Given the description of an element on the screen output the (x, y) to click on. 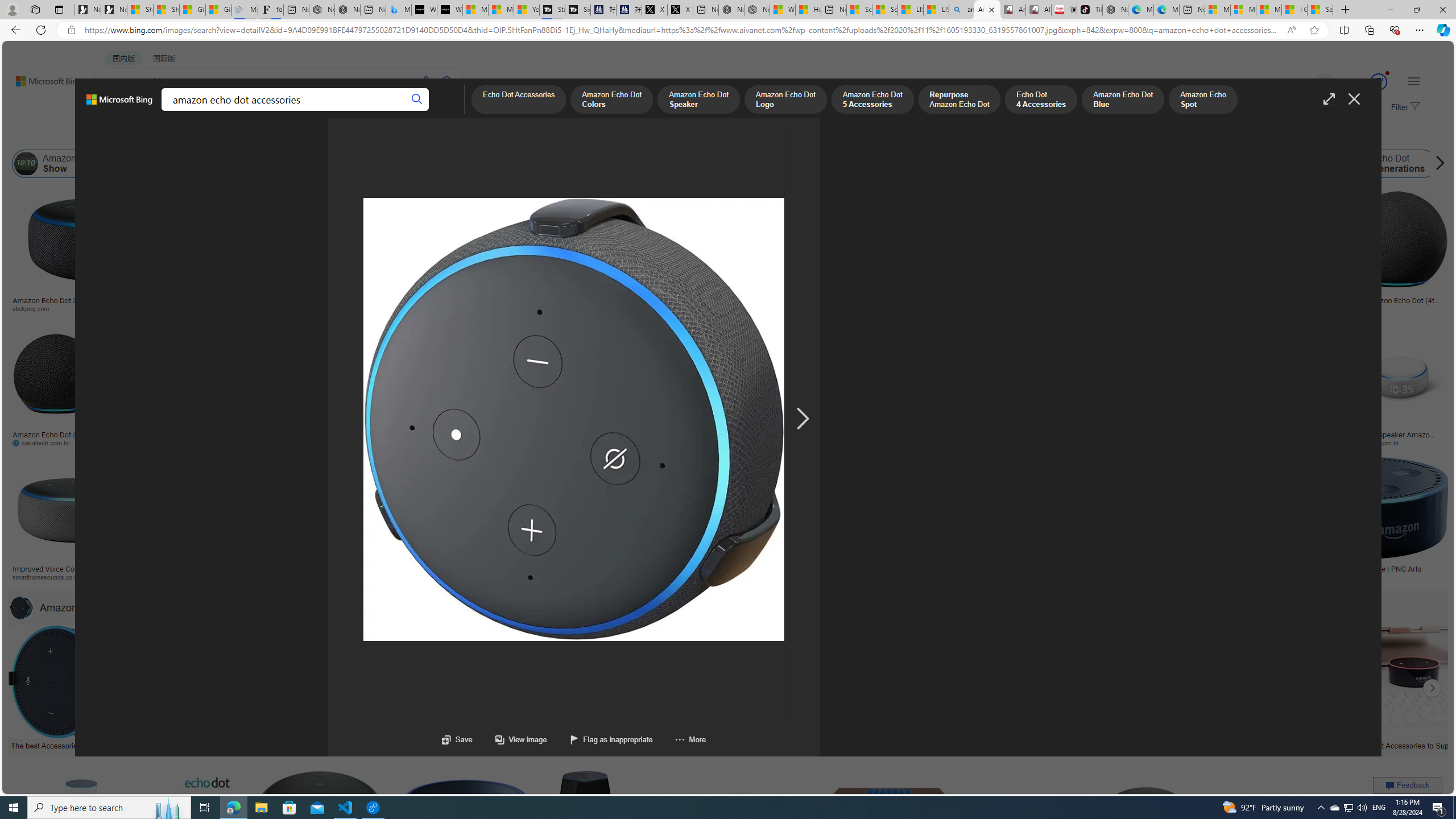
DICT (357, 111)
croma.com (463, 442)
pricehistoryapp.com (287, 442)
amazon.com.mx (1034, 442)
Amazon Echo Dot 4th Gen (565, 227)
App bar (728, 29)
Close image (1352, 99)
Repurpose Amazon Echo Dot (958, 100)
